Given the description of an element on the screen output the (x, y) to click on. 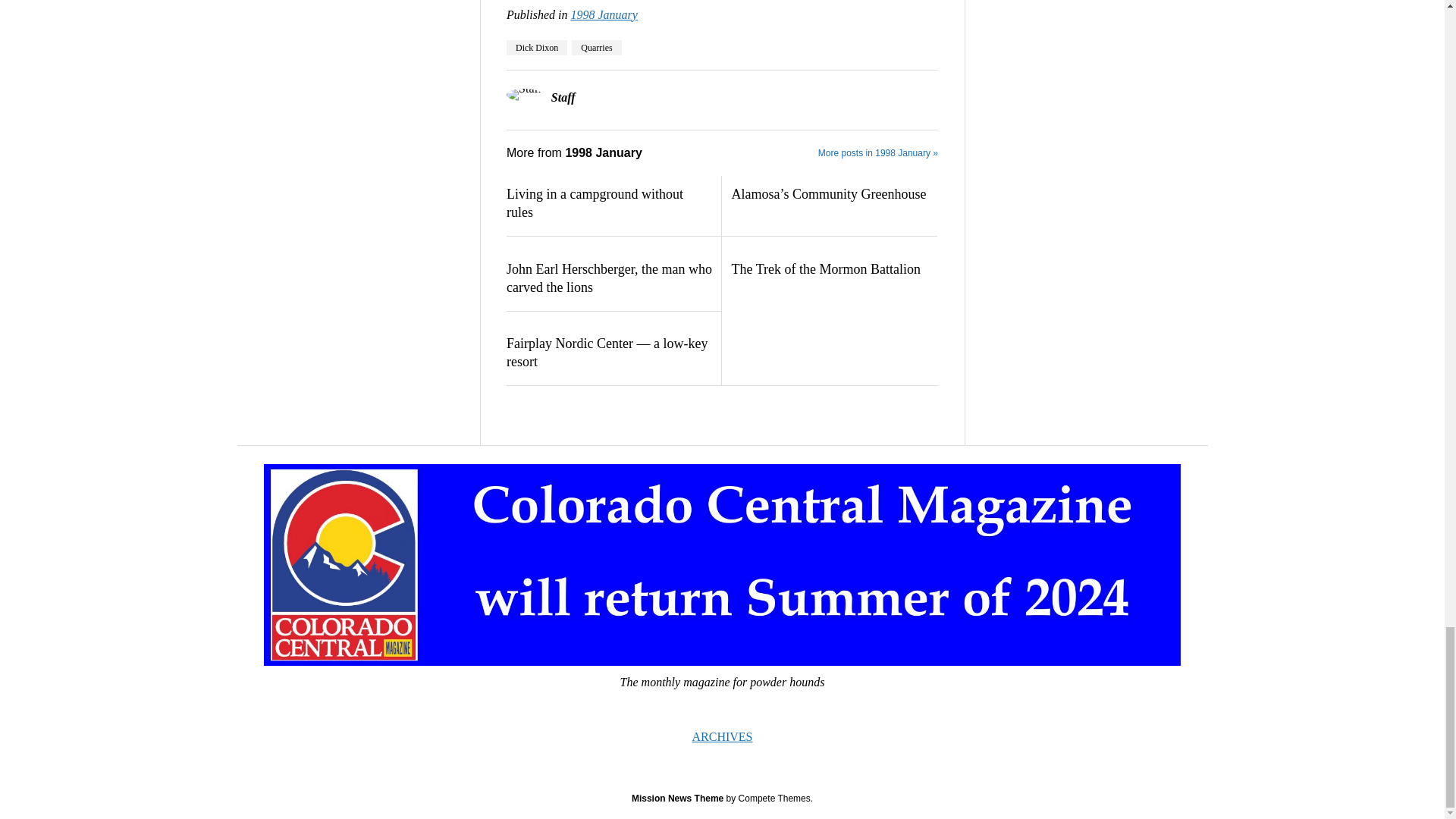
ARCHIVES (721, 736)
The Trek of the Mormon Battalion (833, 270)
Quarries (596, 47)
View all posts tagged Dick Dixon (536, 47)
1998 January (603, 14)
Mission News Theme (677, 798)
Living in a campground without rules (608, 203)
Dick Dixon (536, 47)
View all posts in 1998 January (603, 14)
John Earl Herschberger, the man who carved the lions (608, 279)
